Given the description of an element on the screen output the (x, y) to click on. 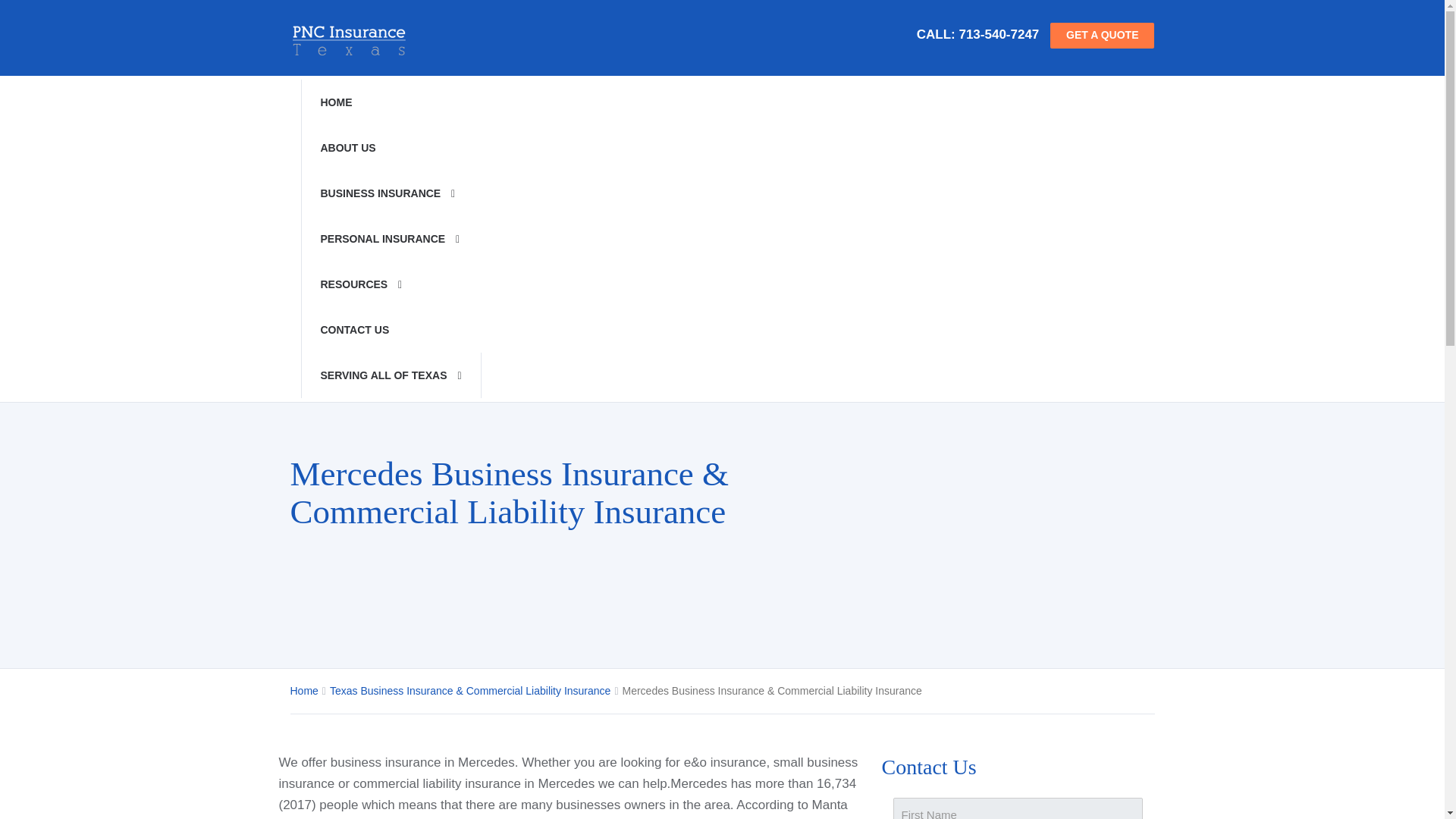
SERVING ALL OF TEXAS (389, 375)
RESOURCES (389, 284)
ABOUT US (389, 147)
713-540-7247 (998, 34)
CONTACT US (389, 329)
BUSINESS INSURANCE (389, 193)
Home (389, 102)
Get a Quote (1101, 35)
Business Insurance (389, 193)
GET A QUOTE (1101, 35)
HOME (389, 102)
About US (389, 147)
PERSONAL INSURANCE (389, 238)
